Given the description of an element on the screen output the (x, y) to click on. 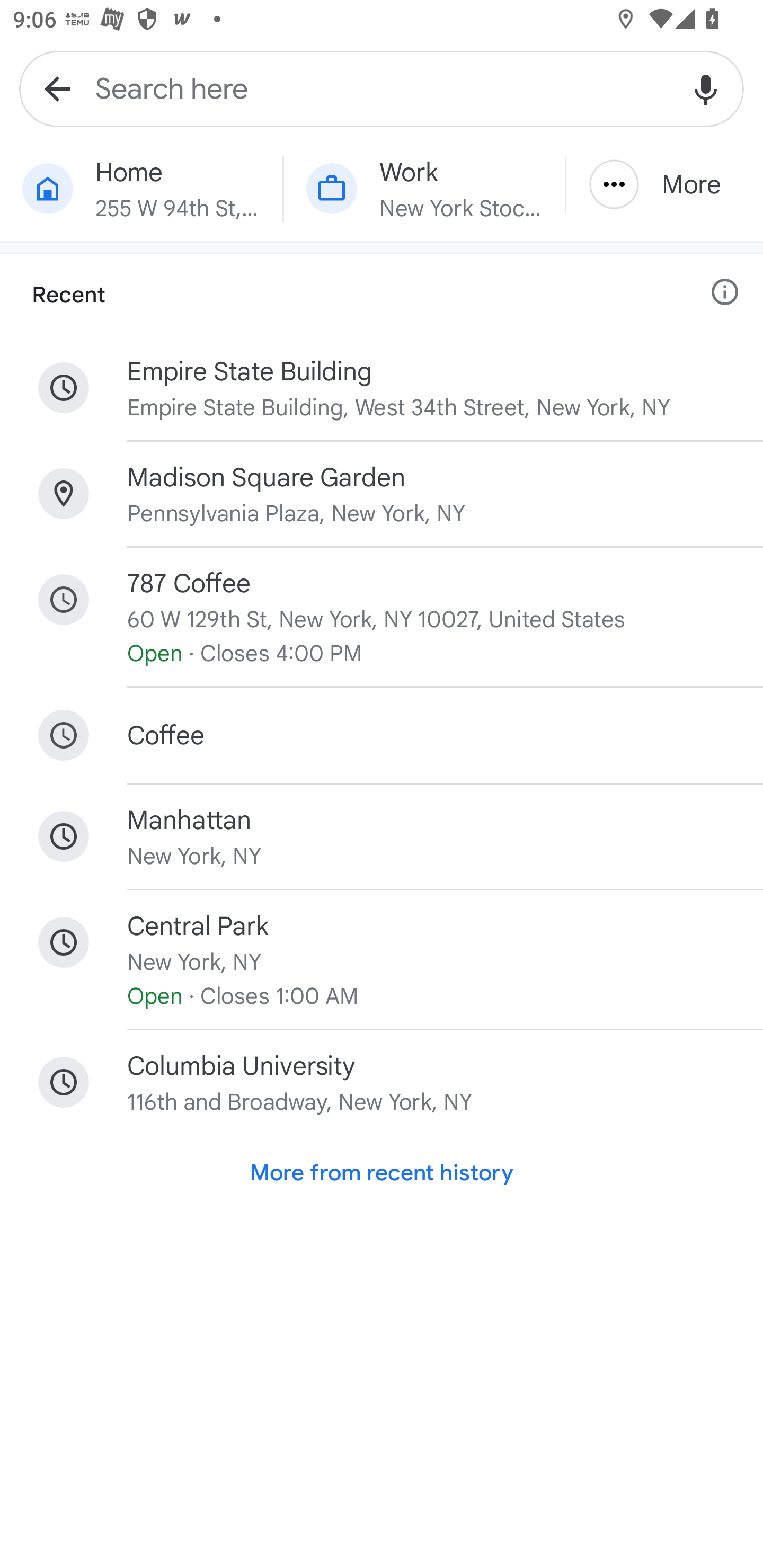
Navigate up (57, 88)
Search here (381, 88)
Voice search (705, 88)
More (664, 184)
Coffee (381, 735)
Manhattan New York, NY (381, 836)
Central Park New York, NY Open · Closes 1:00 AM (381, 959)
More from recent history (381, 1172)
